Given the description of an element on the screen output the (x, y) to click on. 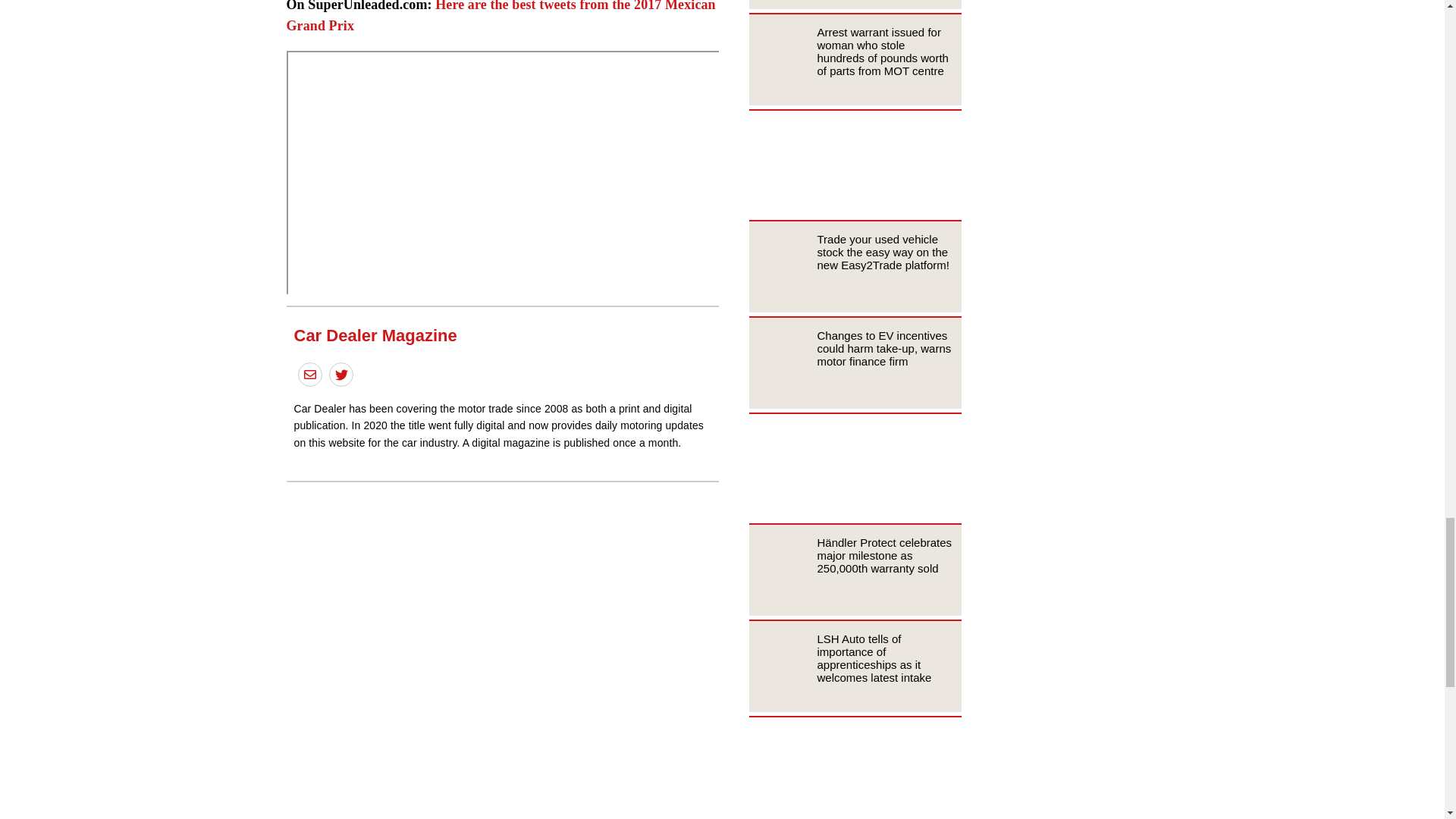
Car Dealer Magazine (375, 334)
Posts by Car Dealer Magazine (375, 334)
Here are the best tweets from the 2017 Mexican Grand Prix (501, 17)
